Given the description of an element on the screen output the (x, y) to click on. 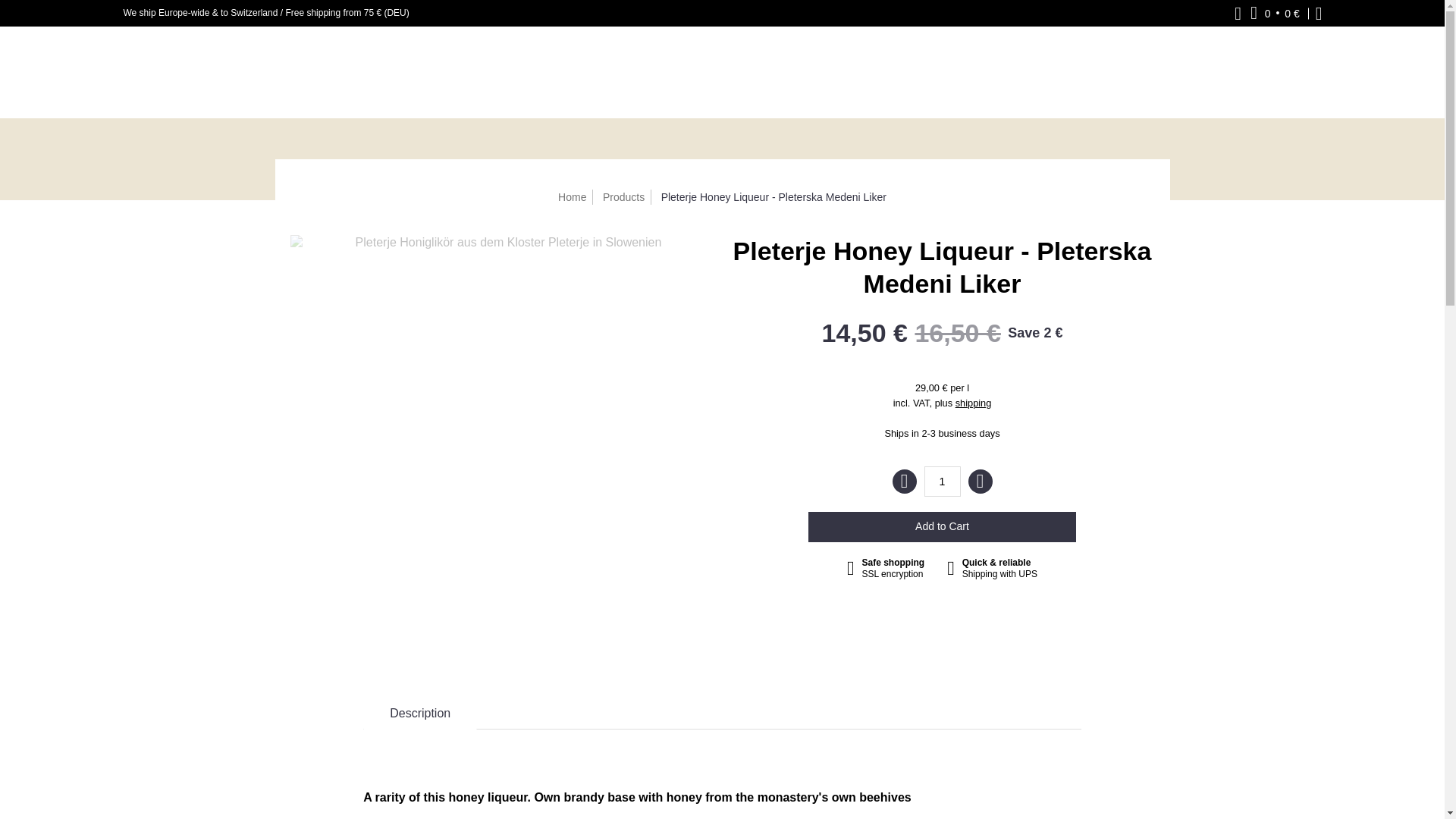
Cart (1275, 13)
1 (941, 481)
Add to Cart (941, 526)
